Given the description of an element on the screen output the (x, y) to click on. 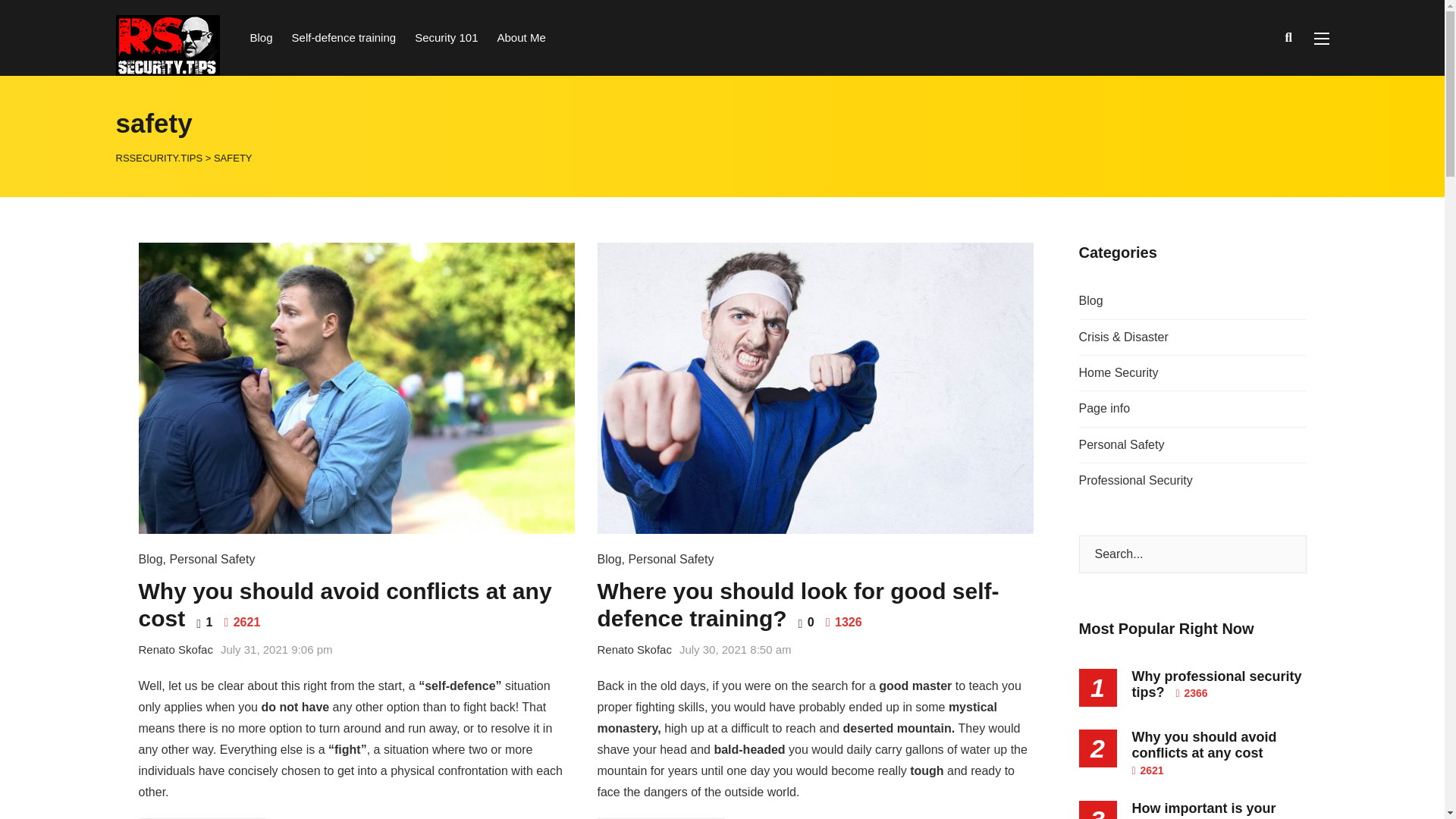
Views (843, 621)
Views (242, 621)
View all posts by Renato Skofac (633, 649)
July 30, 2021 8:50 am (735, 649)
Personal Safety (211, 558)
Go to RSSecurity.Tips. (158, 156)
View all posts by Renato Skofac (175, 649)
Search... (1192, 554)
